Given the description of an element on the screen output the (x, y) to click on. 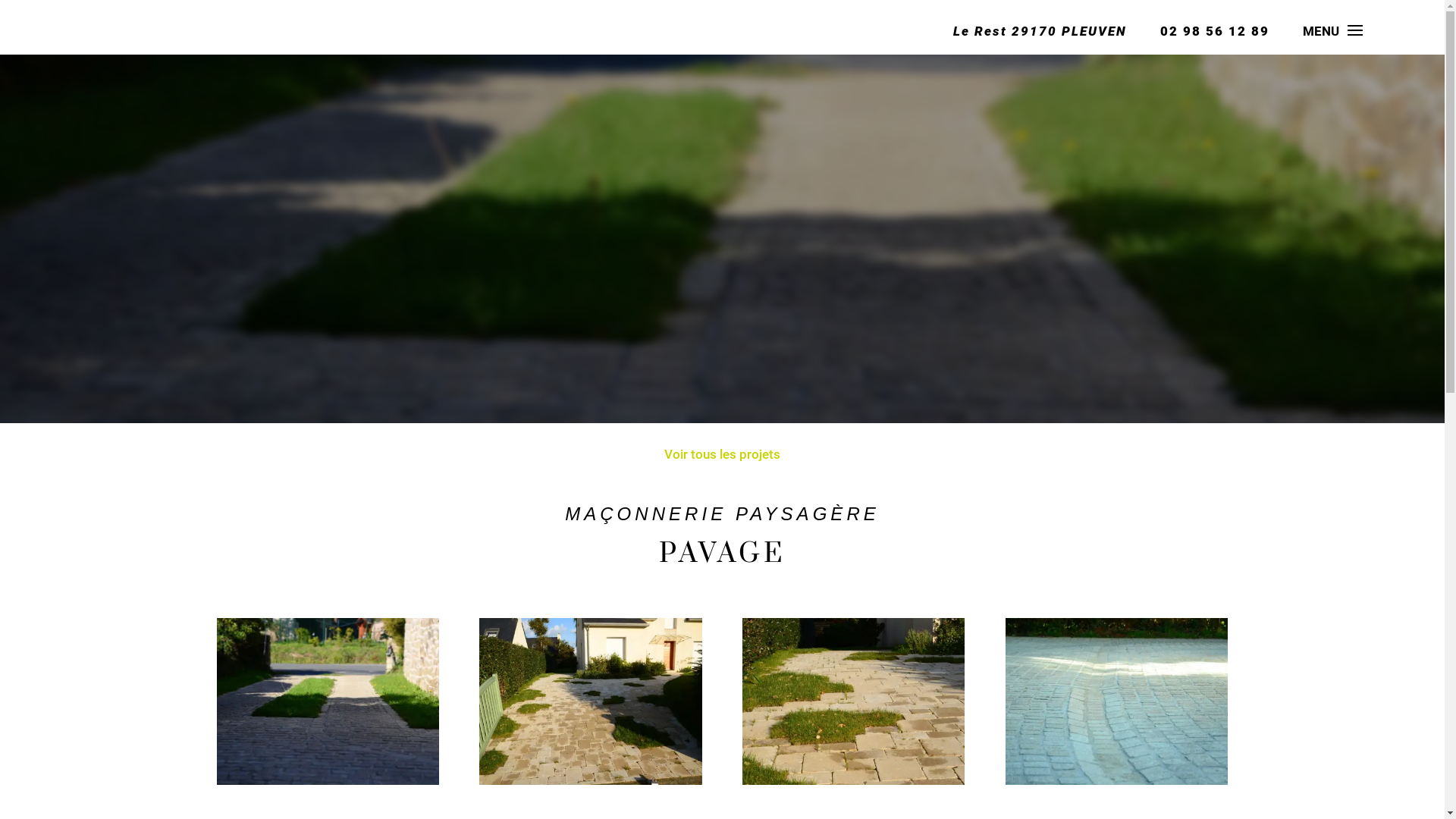
02 98 56 12 89 Element type: text (1214, 30)
Voir tous les projets Element type: text (722, 454)
